Given the description of an element on the screen output the (x, y) to click on. 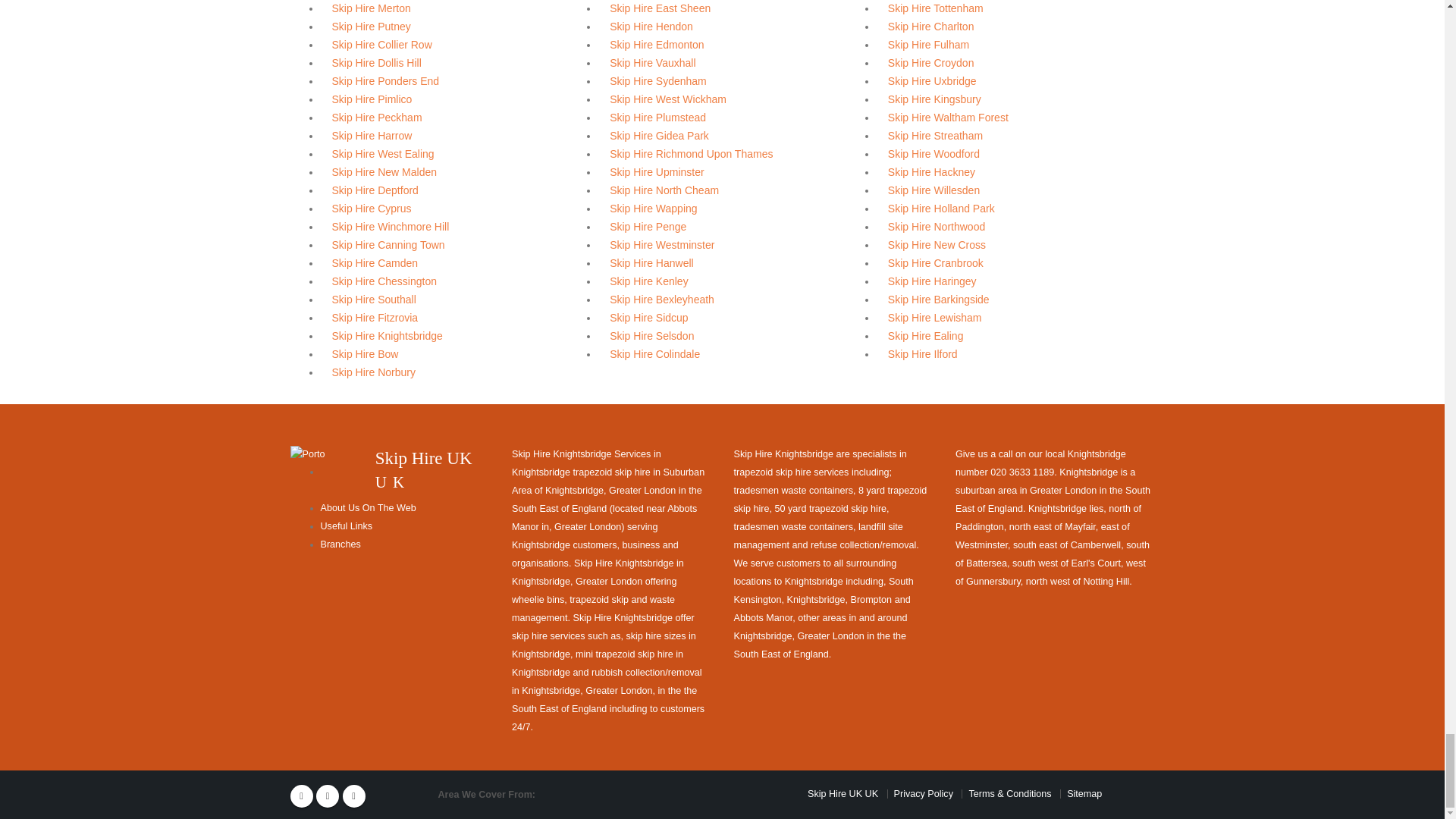
Linkedin (353, 795)
Facebook (301, 795)
Twitter (327, 795)
